Given the description of an element on the screen output the (x, y) to click on. 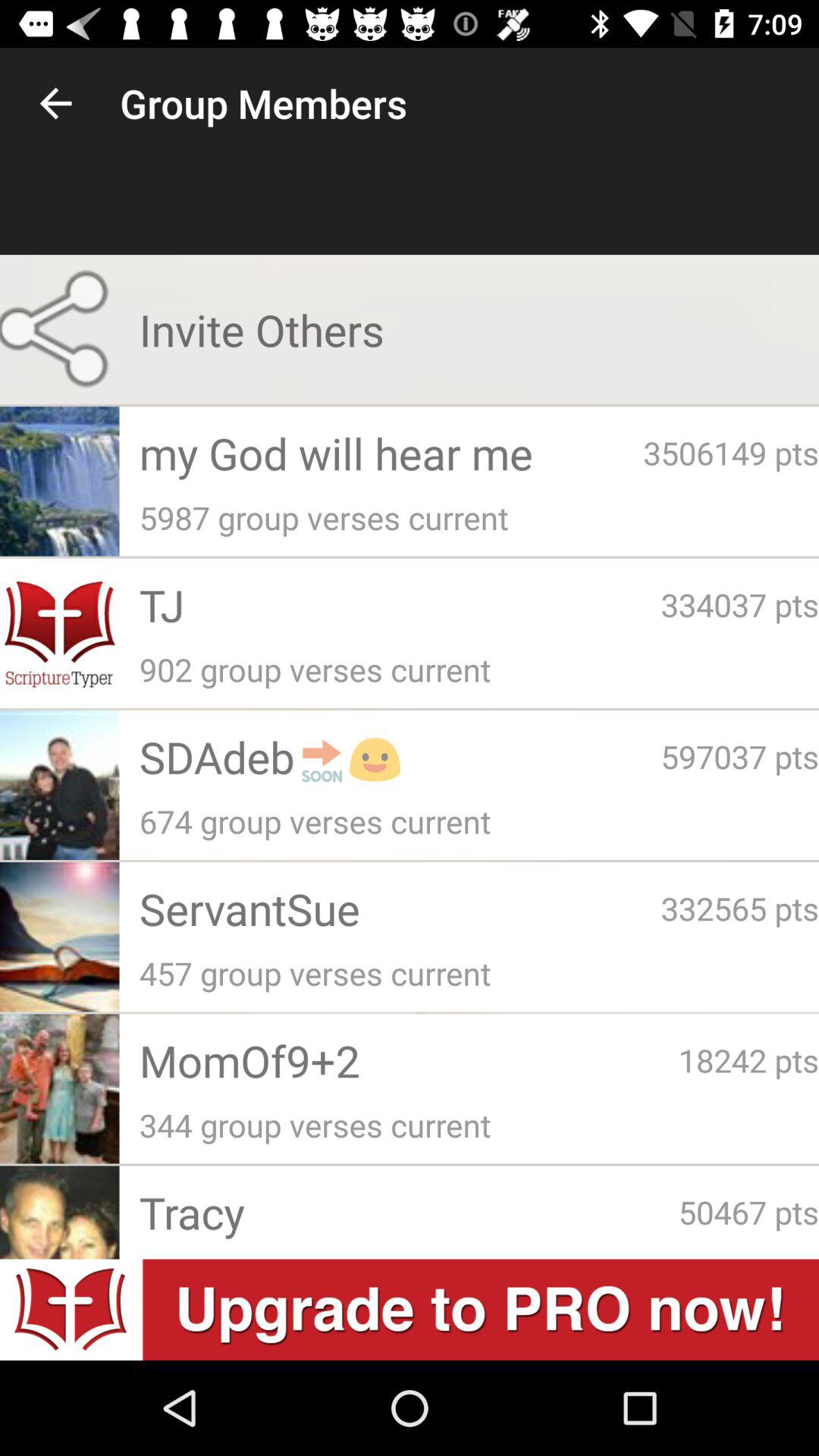
turn on the app below 902 group verses icon (399, 756)
